Given the description of an element on the screen output the (x, y) to click on. 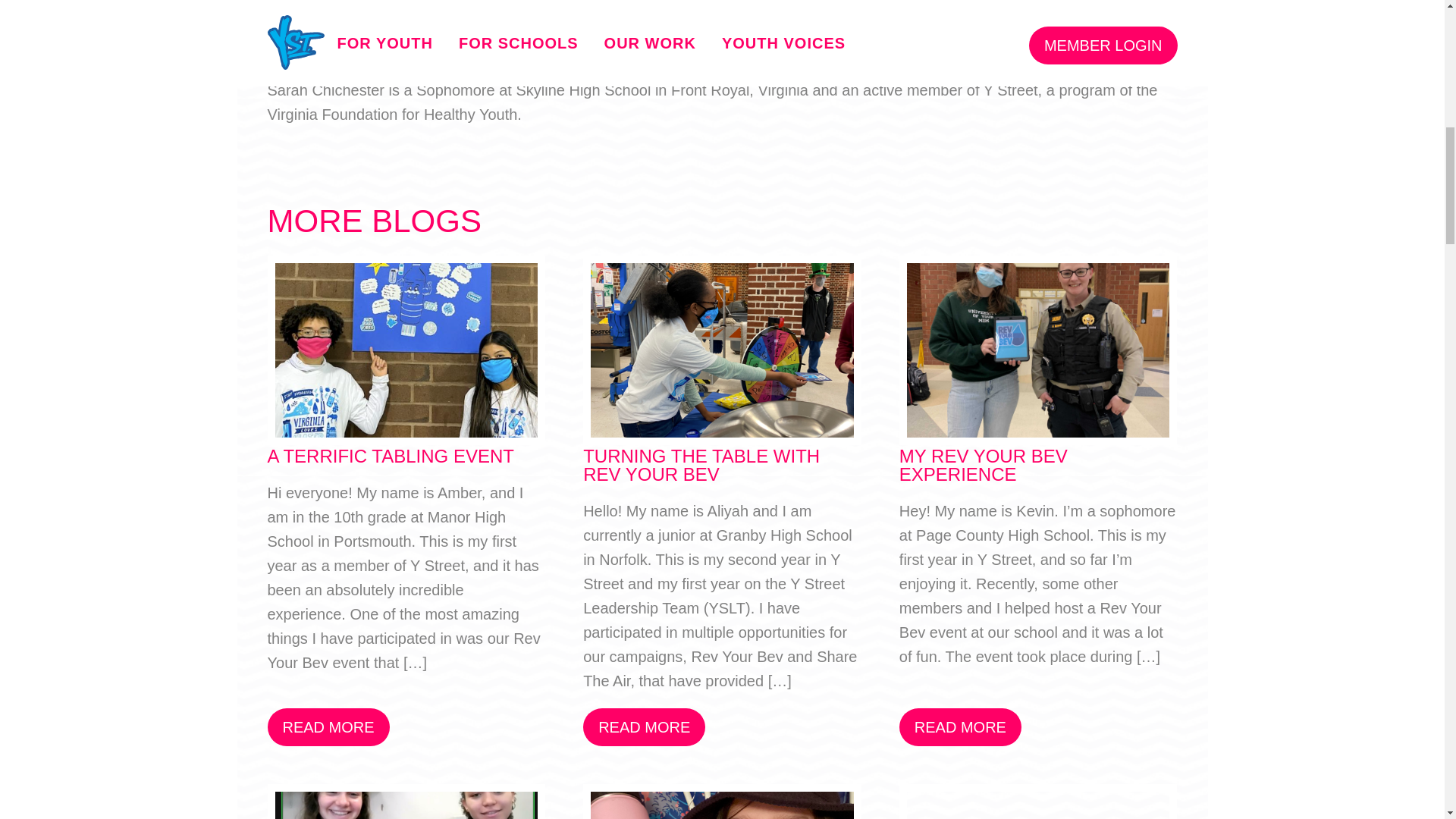
READ MORE (327, 727)
Read more (960, 727)
READ MORE (960, 727)
Read more (643, 727)
READ MORE (643, 727)
Read more (327, 727)
